Given the description of an element on the screen output the (x, y) to click on. 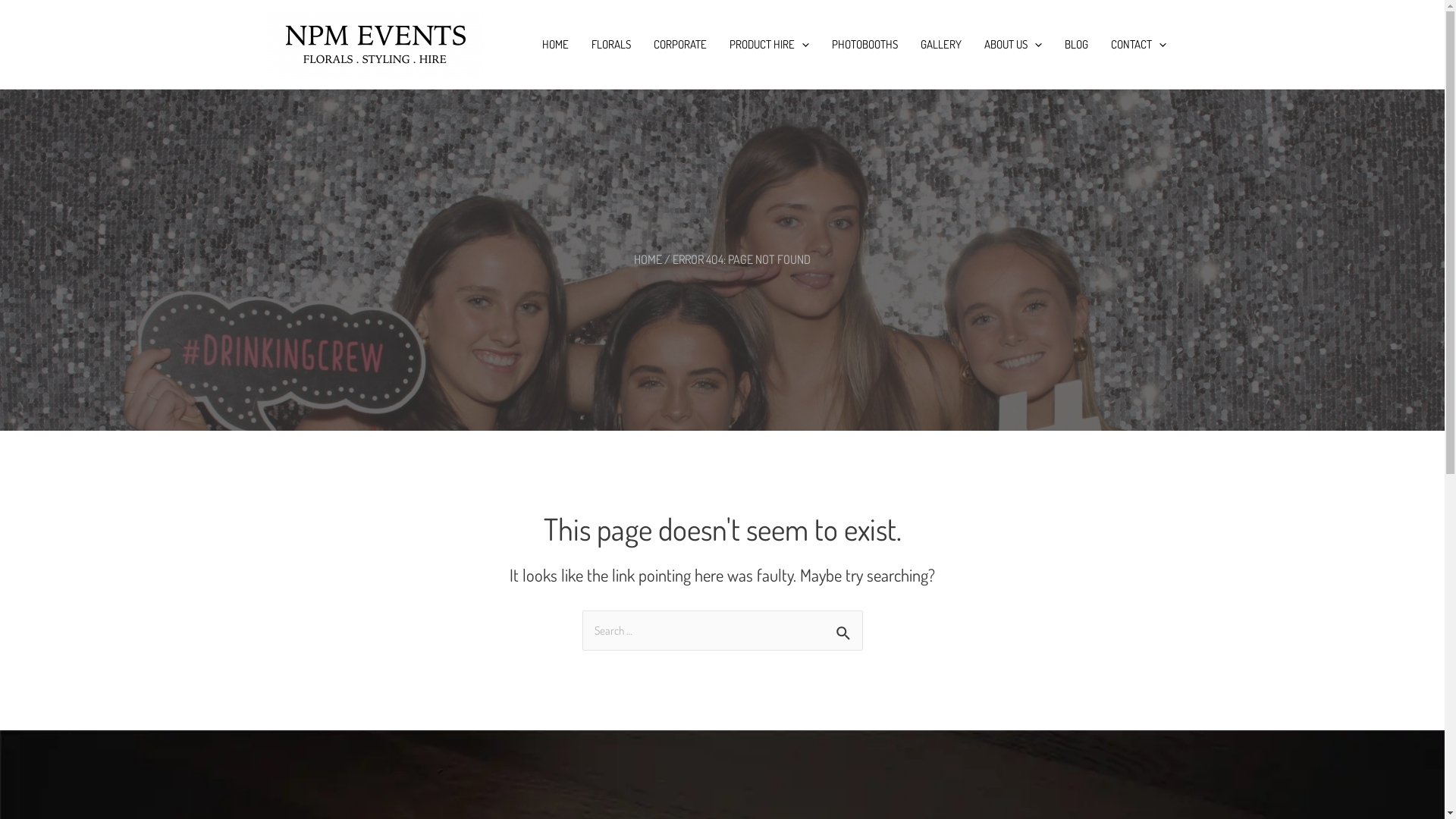
CONTACT Element type: text (1138, 43)
PHOTOBOOTHS Element type: text (864, 43)
GALLERY Element type: text (940, 43)
HOME Element type: text (555, 43)
BLOG Element type: text (1075, 43)
FLORALS Element type: text (610, 43)
HOME Element type: text (647, 258)
Search Element type: text (845, 627)
CORPORATE Element type: text (679, 43)
PRODUCT HIRE Element type: text (768, 43)
ABOUT US Element type: text (1012, 43)
